Given the description of an element on the screen output the (x, y) to click on. 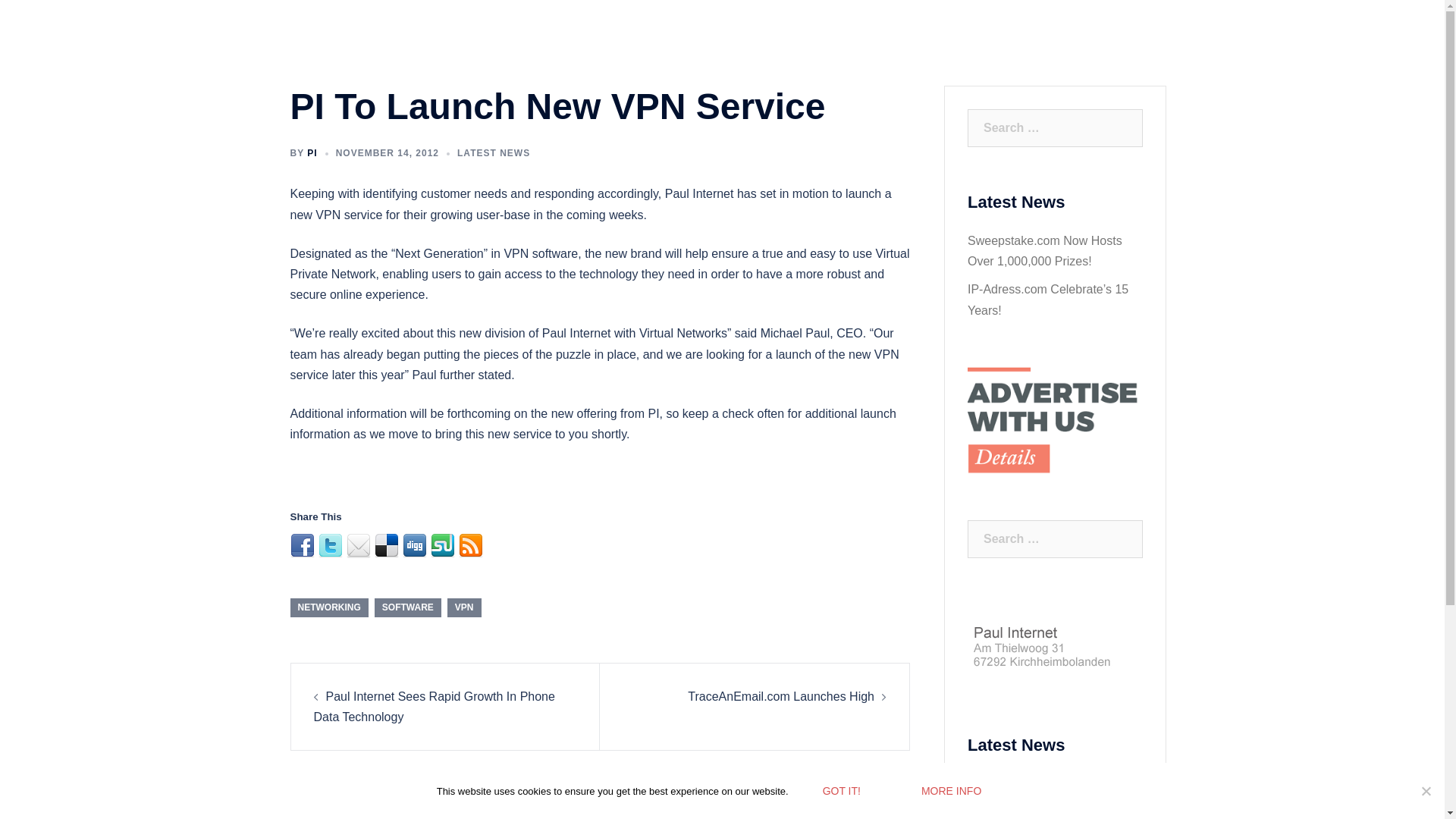
Share on Delicious (386, 545)
Sweepstake.com Now Hosts Over 1,000,000 Prizes! (1045, 793)
RSS Feed (469, 545)
About Us (801, 39)
Paul Internet (408, 38)
NOVEMBER 14, 2012 (387, 153)
Latest News (946, 39)
Share on Digg (413, 545)
GOT IT! (841, 790)
VPN (463, 607)
Search (47, 18)
Share on StumbleUpon (442, 545)
Privacy Policy (1109, 39)
TraceAnEmail.com Launches High (781, 696)
NETWORKING (328, 607)
